Given the description of an element on the screen output the (x, y) to click on. 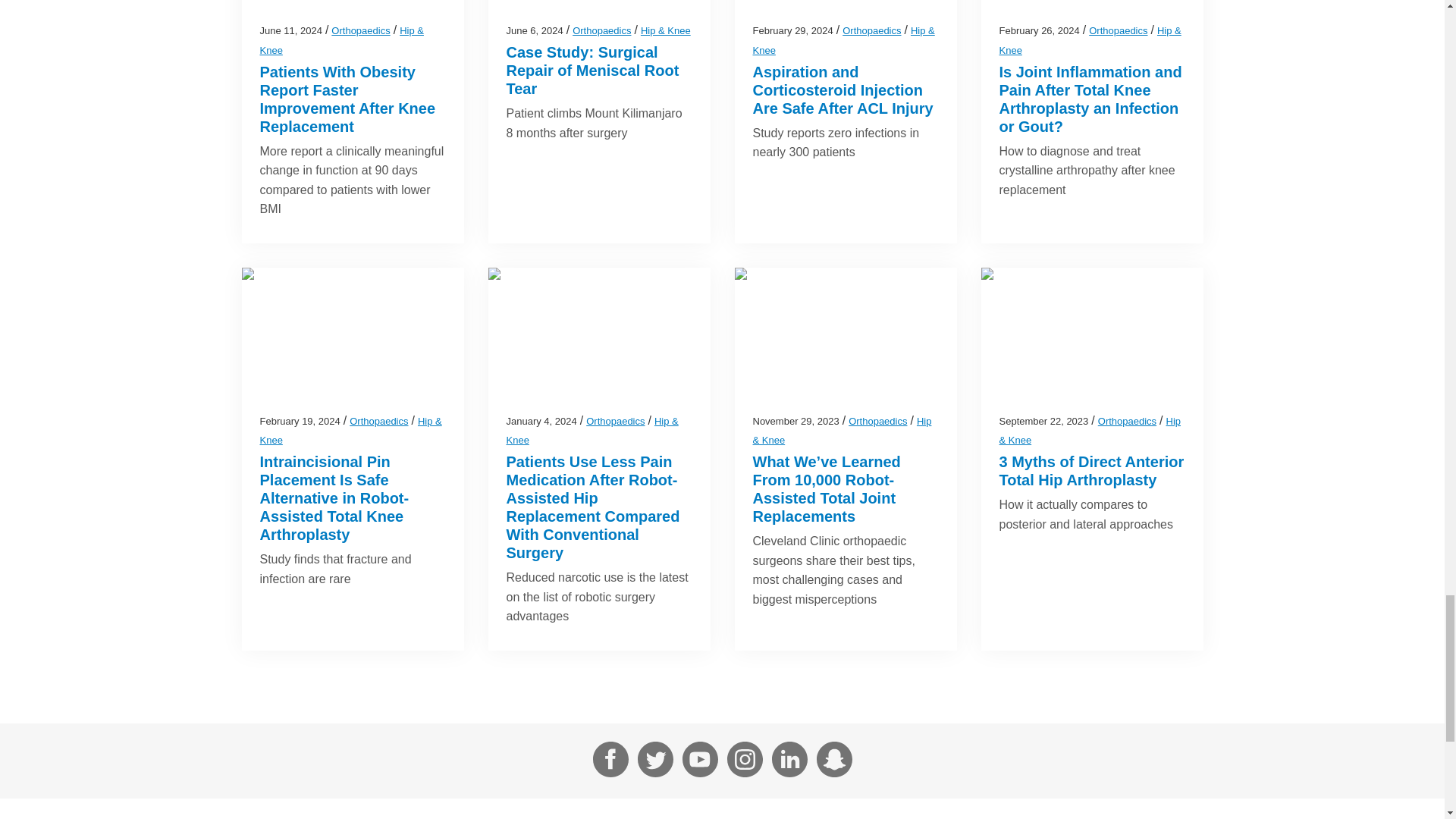
Case Study: Surgical Repair of Meniscal Root Tear (592, 70)
Orthopaedics (360, 30)
Orthopaedics (601, 30)
